Given the description of an element on the screen output the (x, y) to click on. 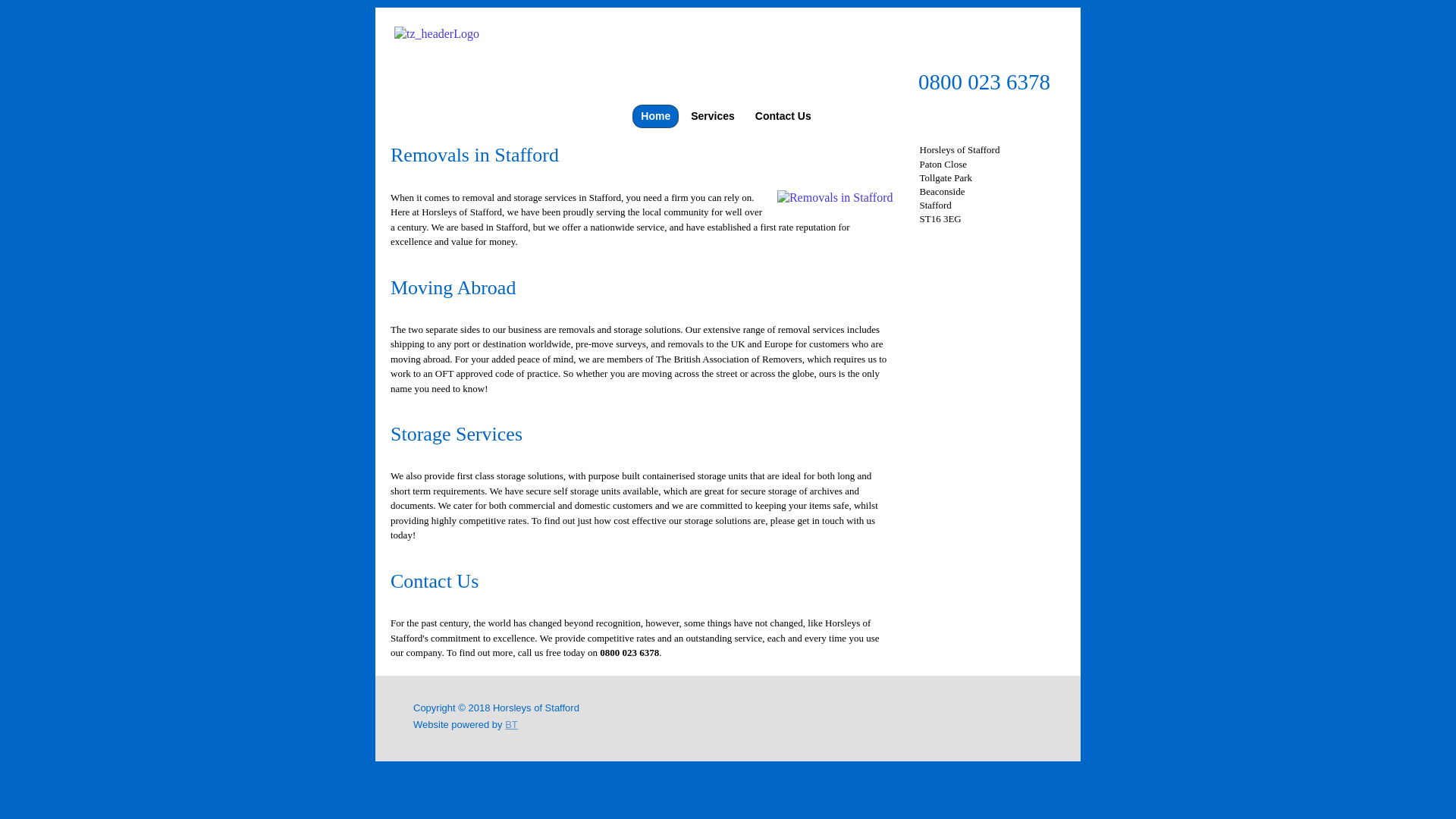
BT (511, 724)
0800 023 6378 (983, 81)
Contact Us (782, 115)
Home (654, 115)
0800 023 6378 (629, 652)
Services (712, 115)
